Given the description of an element on the screen output the (x, y) to click on. 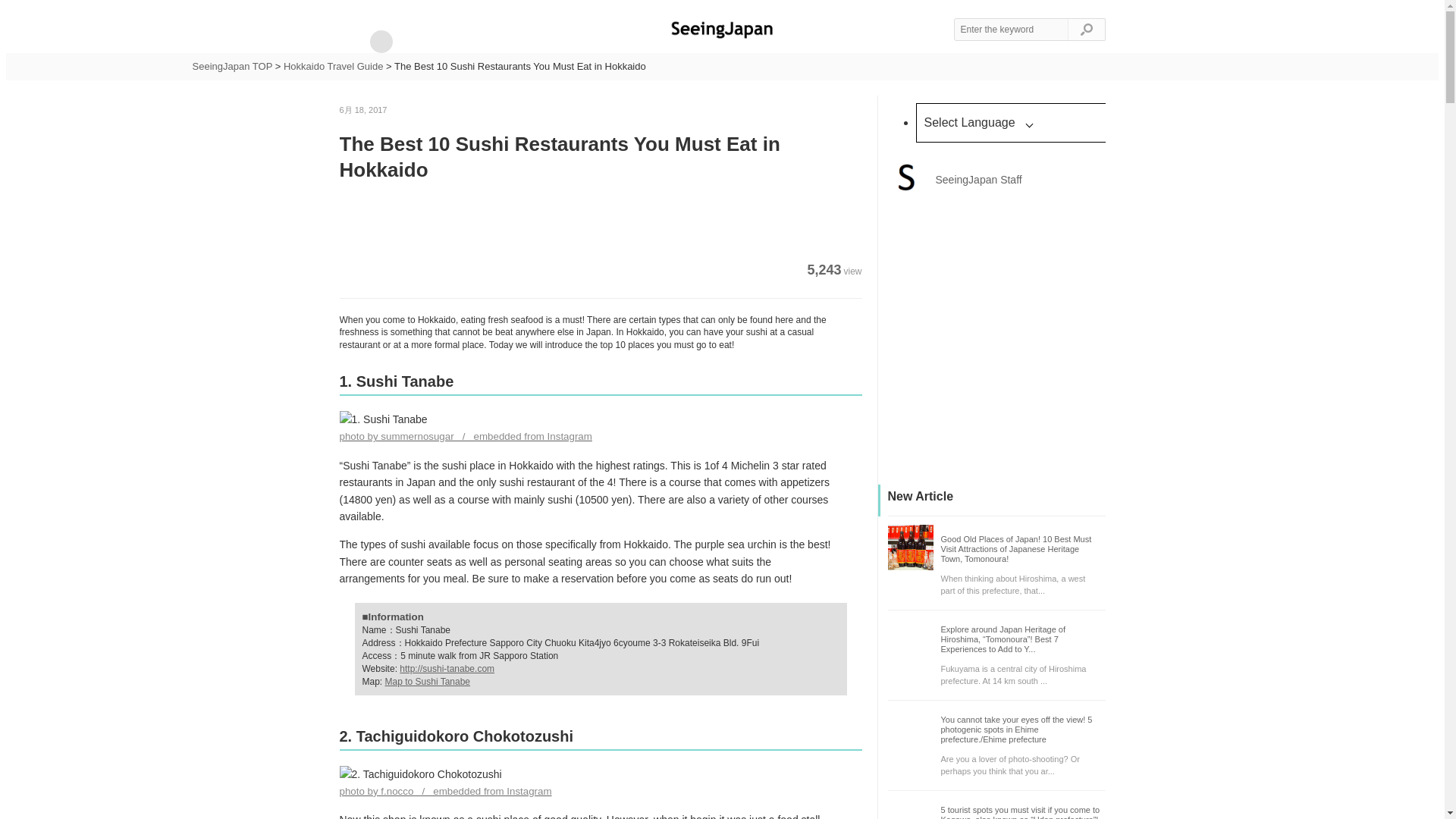
SeeingJapan TOP (232, 66)
1. Sushi Tanabe (383, 419)
Hokkaido Travel Guide (333, 66)
2. Tachiguidokoro Chokotozushi (420, 773)
Map to Sushi Tanabe (427, 681)
